Given the description of an element on the screen output the (x, y) to click on. 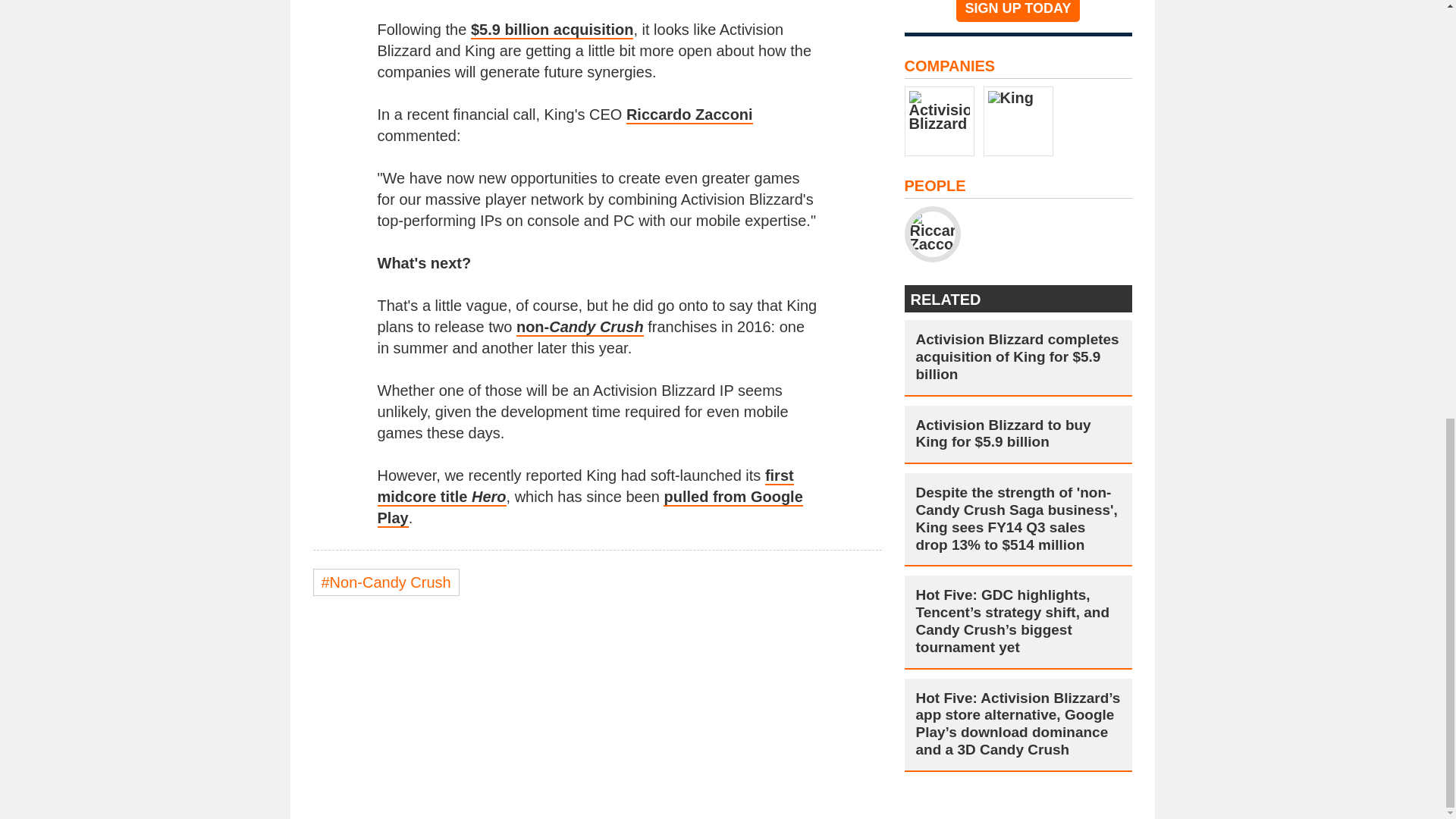
pulled from Google Play (590, 507)
Riccardo Zacconi (689, 115)
first midcore title Hero (585, 486)
non-Candy Crush (579, 327)
